Given the description of an element on the screen output the (x, y) to click on. 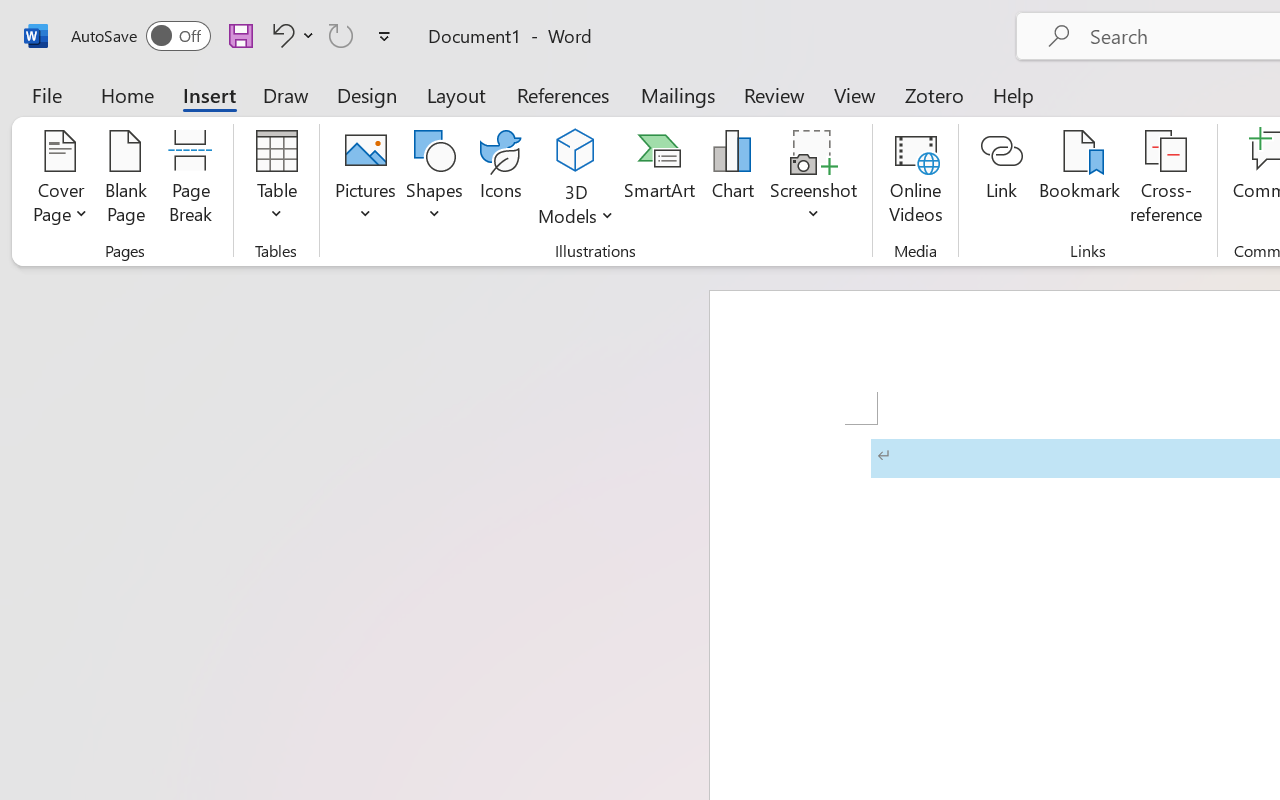
Online Videos... (915, 179)
Screenshot (813, 179)
Blank Page (125, 179)
Pictures (365, 179)
